Given the description of an element on the screen output the (x, y) to click on. 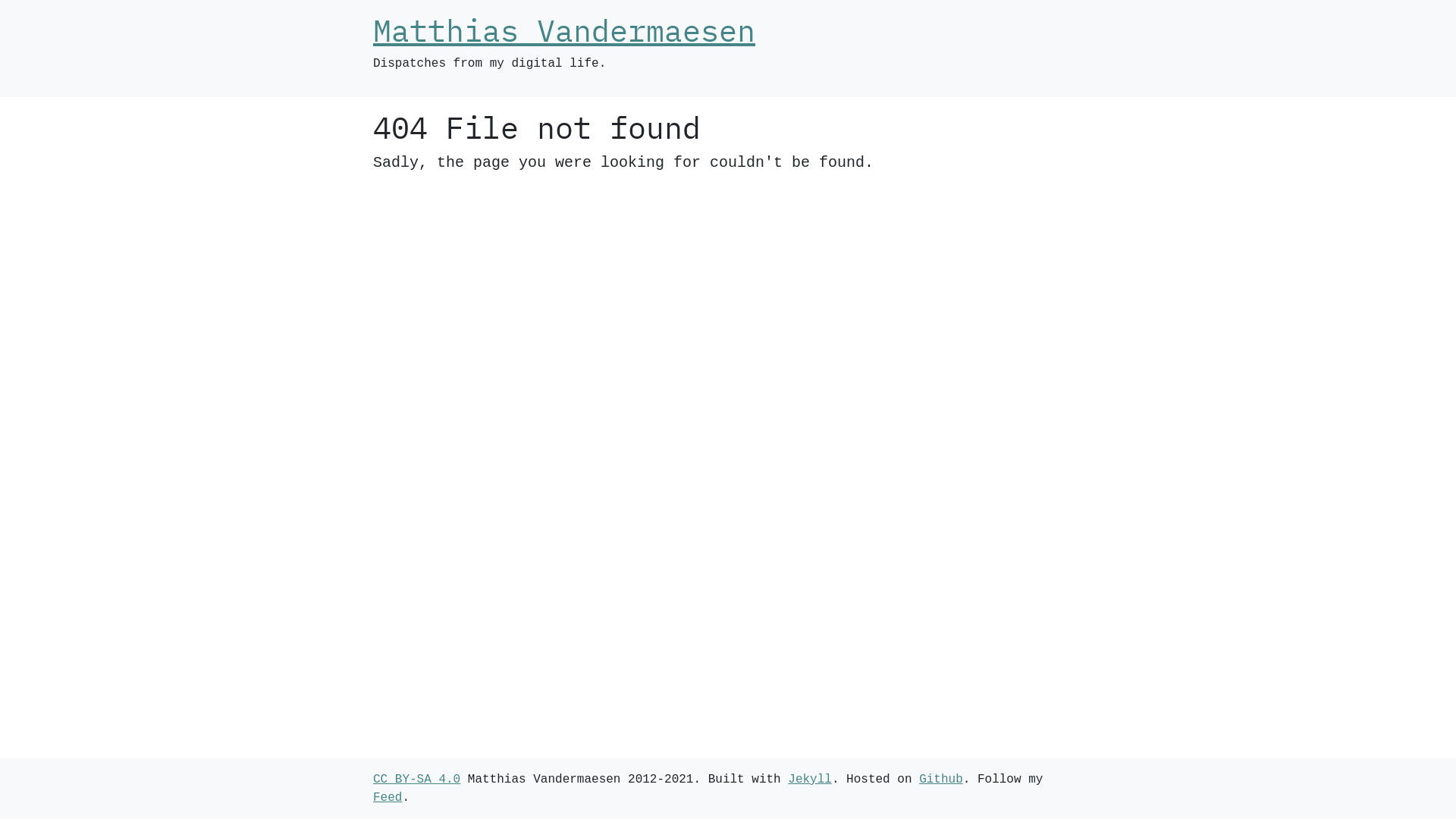
Jekyll Element type: text (809, 779)
CC BY-SA 4.0 Element type: text (416, 779)
Github Element type: text (941, 779)
Feed Element type: text (387, 797)
Matthias Vandermaesen Element type: text (564, 30)
